Given the description of an element on the screen output the (x, y) to click on. 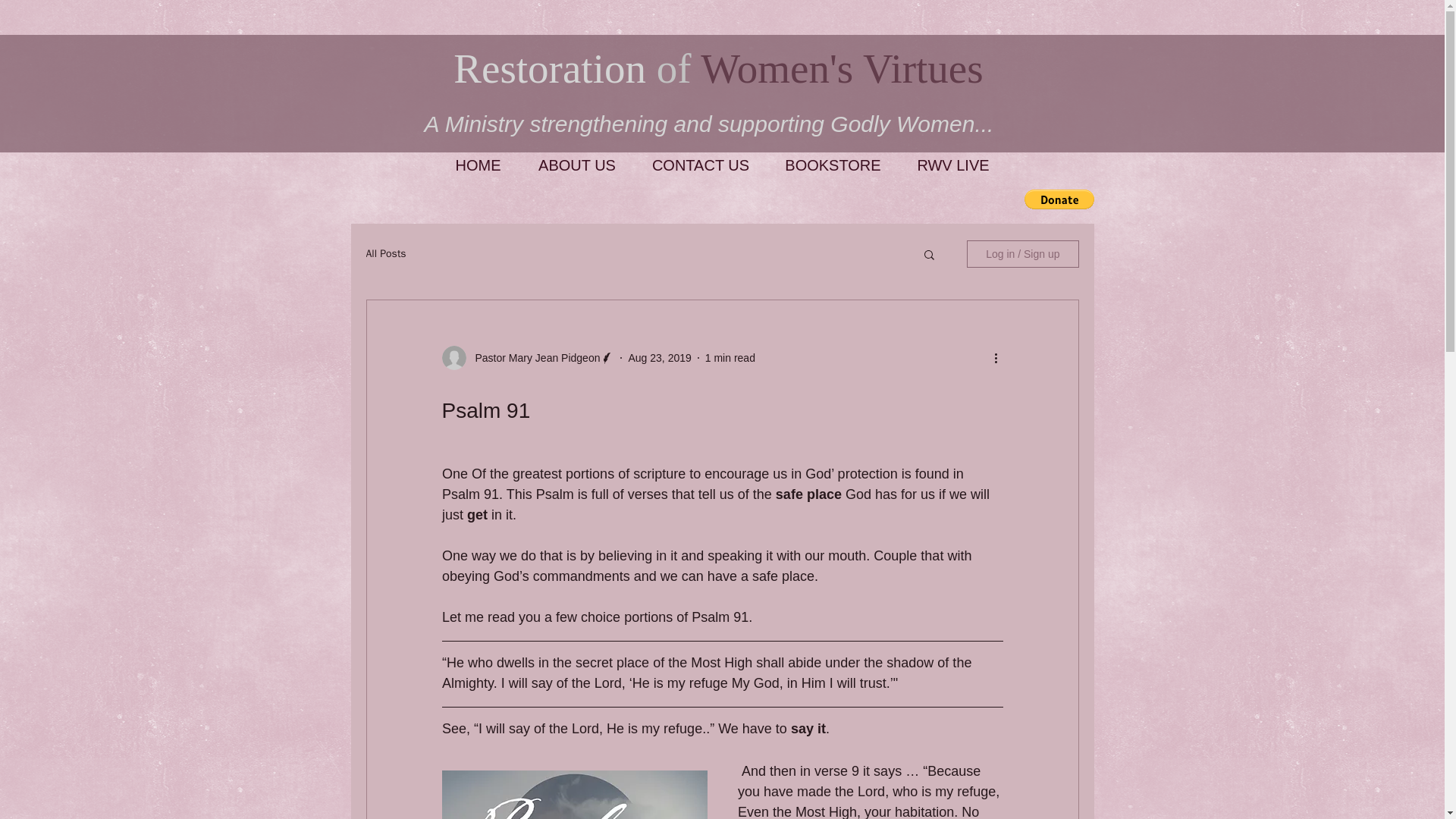
1 min read (729, 357)
ABOUT US (576, 165)
CONTACT US (700, 165)
BOOKSTORE (833, 165)
Aug 23, 2019 (658, 357)
All Posts (385, 254)
Pastor Mary Jean Pidgeon (532, 358)
HOME (477, 165)
RWV LIVE (953, 165)
